Given the description of an element on the screen output the (x, y) to click on. 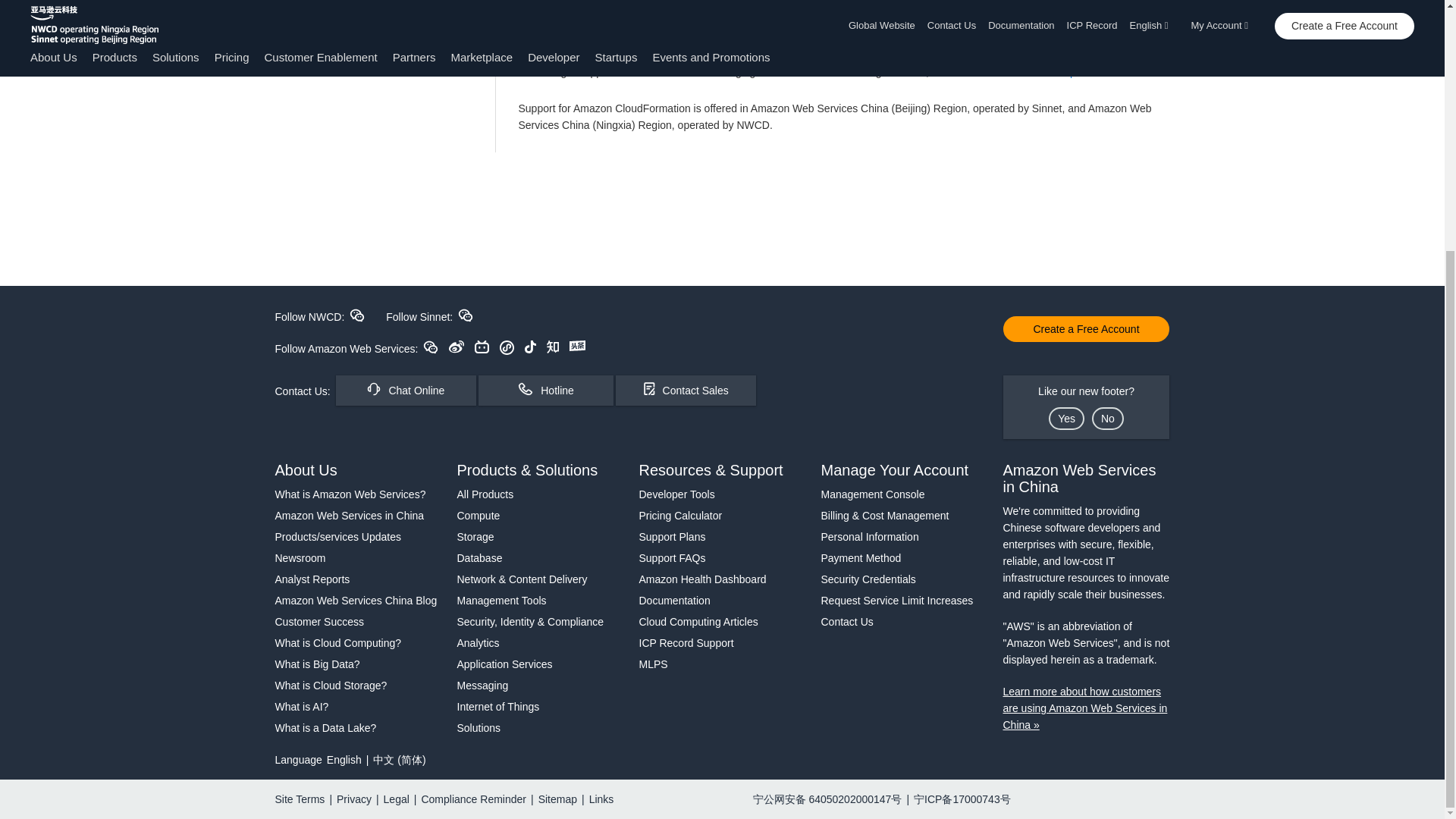
Amazon MSK Developer Guide (1042, 71)
ZhiHu (553, 346)
Applets (506, 347)
WeChat public account (430, 346)
Bilibili (481, 346)
TouTiao (577, 345)
SinaWeiBo (456, 346)
Sinnet (465, 315)
NWCD (357, 315)
